Given the description of an element on the screen output the (x, y) to click on. 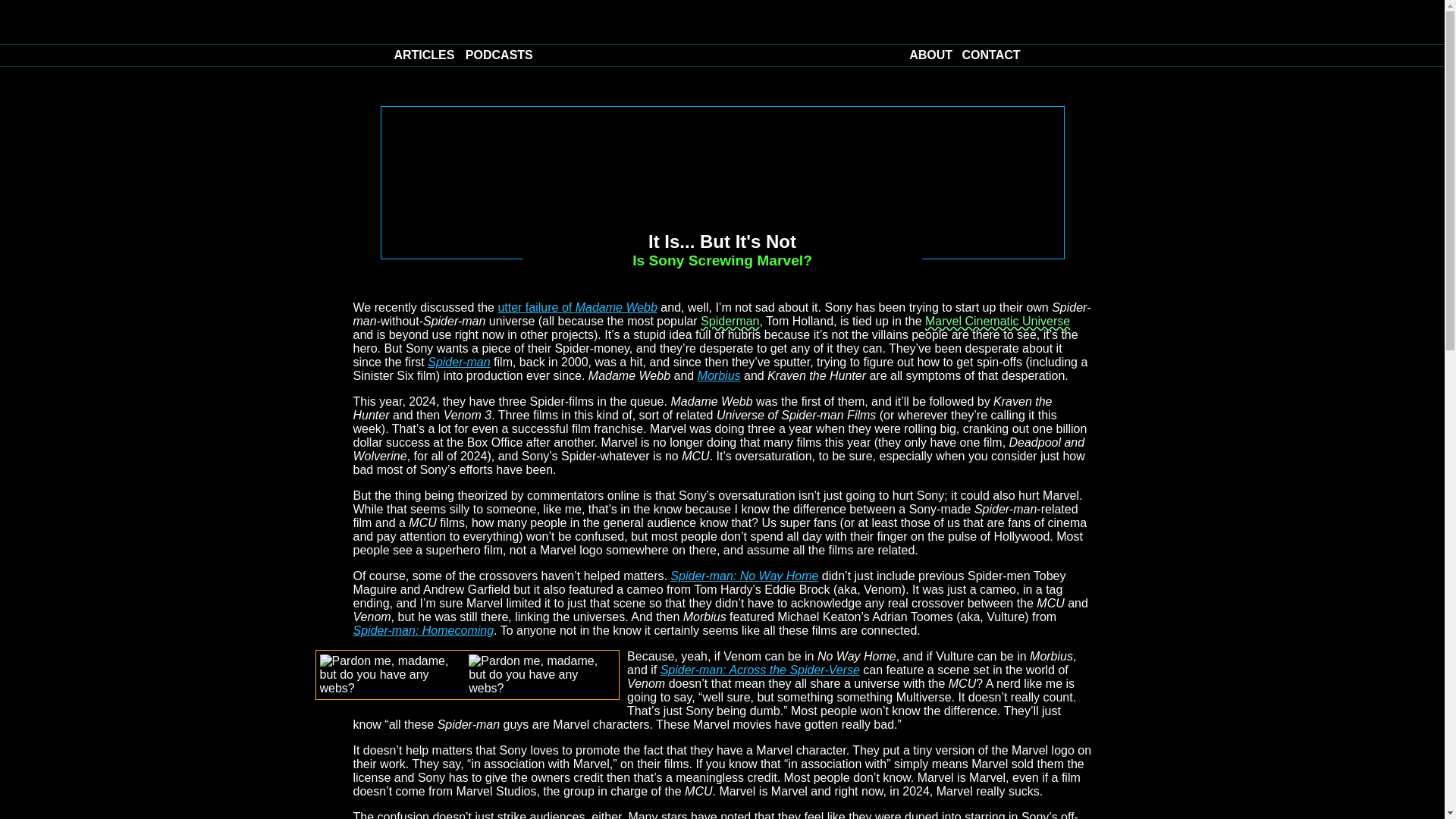
Podcasts (498, 55)
Spiderman (729, 320)
About (930, 55)
Spider-man (458, 361)
Spider-man: Homecoming (424, 630)
Contact (991, 55)
Marvel Cinematic Universe (997, 320)
Spider-man: Across the Spider-Verse (760, 669)
Achive (423, 55)
utter failure of Madame Webb (576, 307)
Donate on Patreon (458, 79)
Spider-man: No Way Home (743, 575)
Morbius (719, 375)
